Given the description of an element on the screen output the (x, y) to click on. 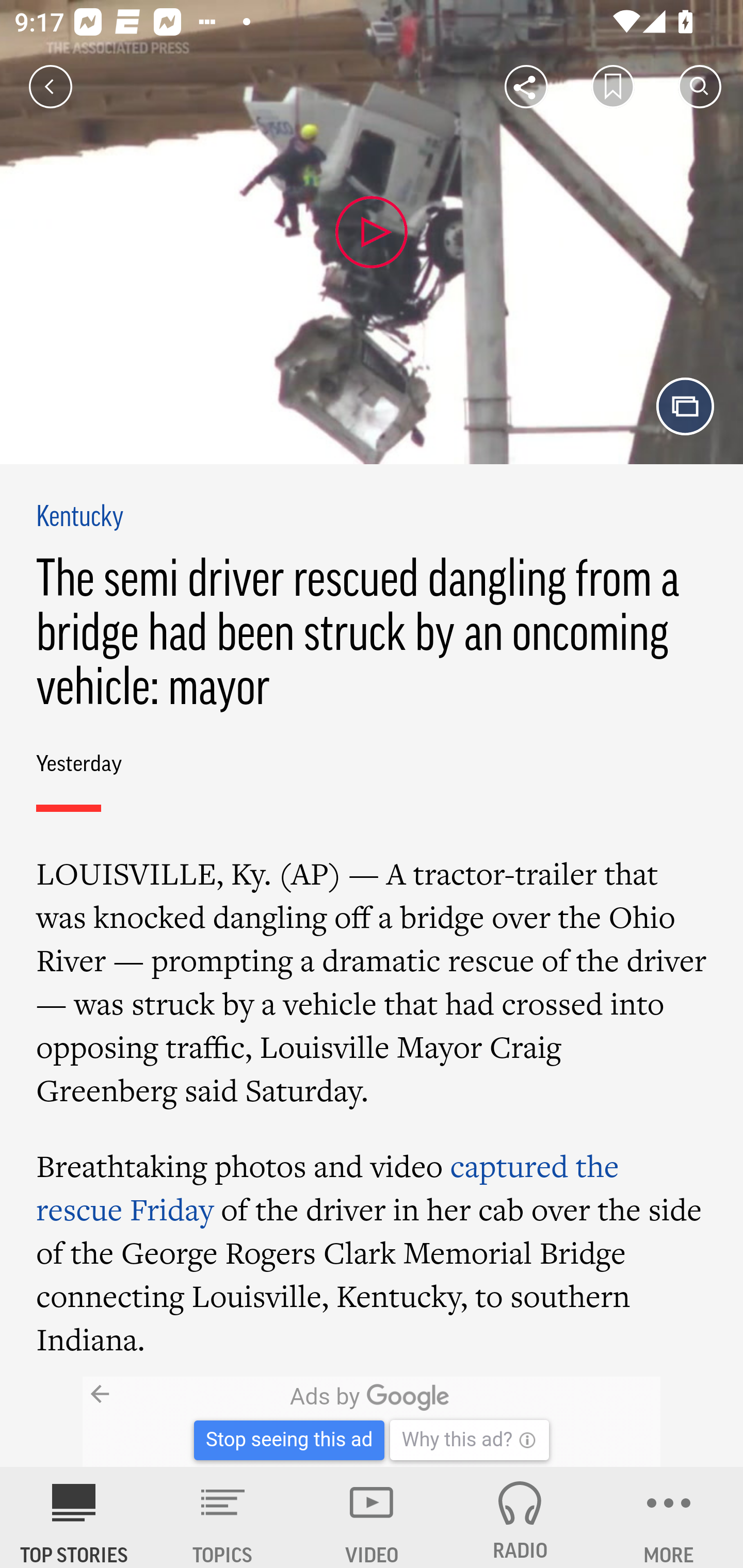
Kentucky (80, 518)
captured the rescue Friday (327, 1186)
AP News TOP STORIES (74, 1517)
TOPICS (222, 1517)
VIDEO (371, 1517)
RADIO (519, 1517)
MORE (668, 1517)
